Given the description of an element on the screen output the (x, y) to click on. 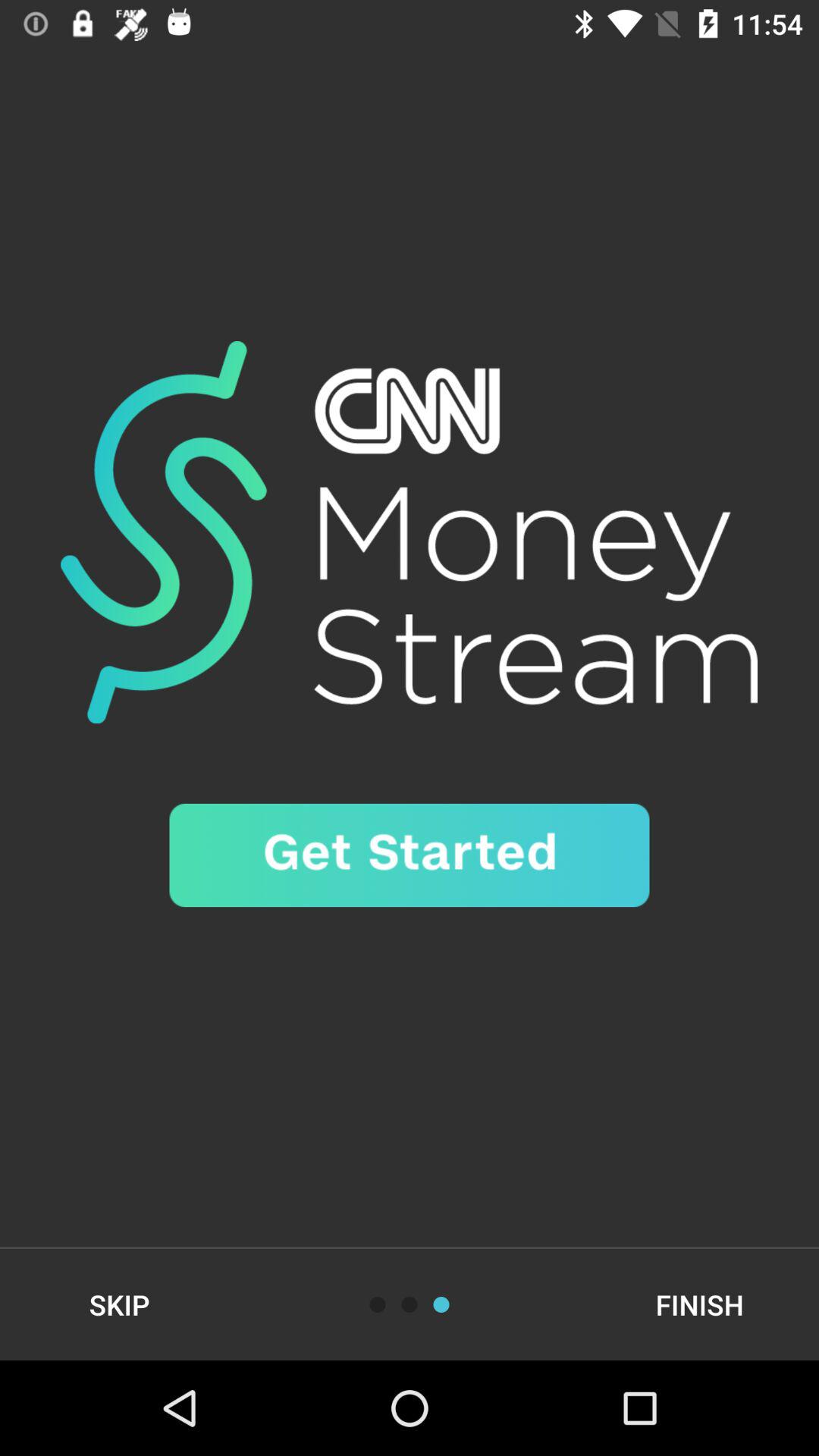
start the podcast (409, 855)
